Given the description of an element on the screen output the (x, y) to click on. 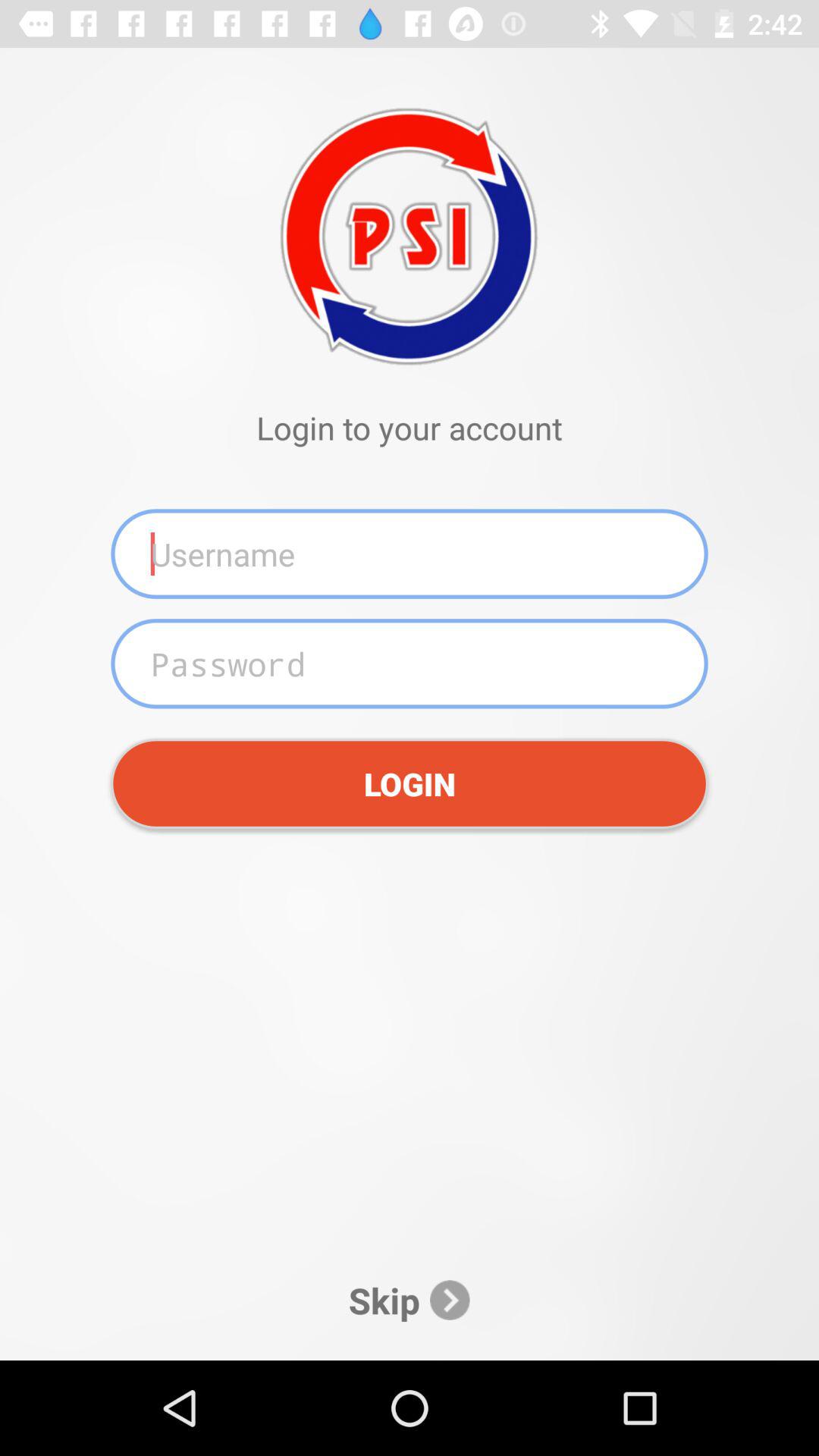
turn off the icon below login to your icon (409, 553)
